Given the description of an element on the screen output the (x, y) to click on. 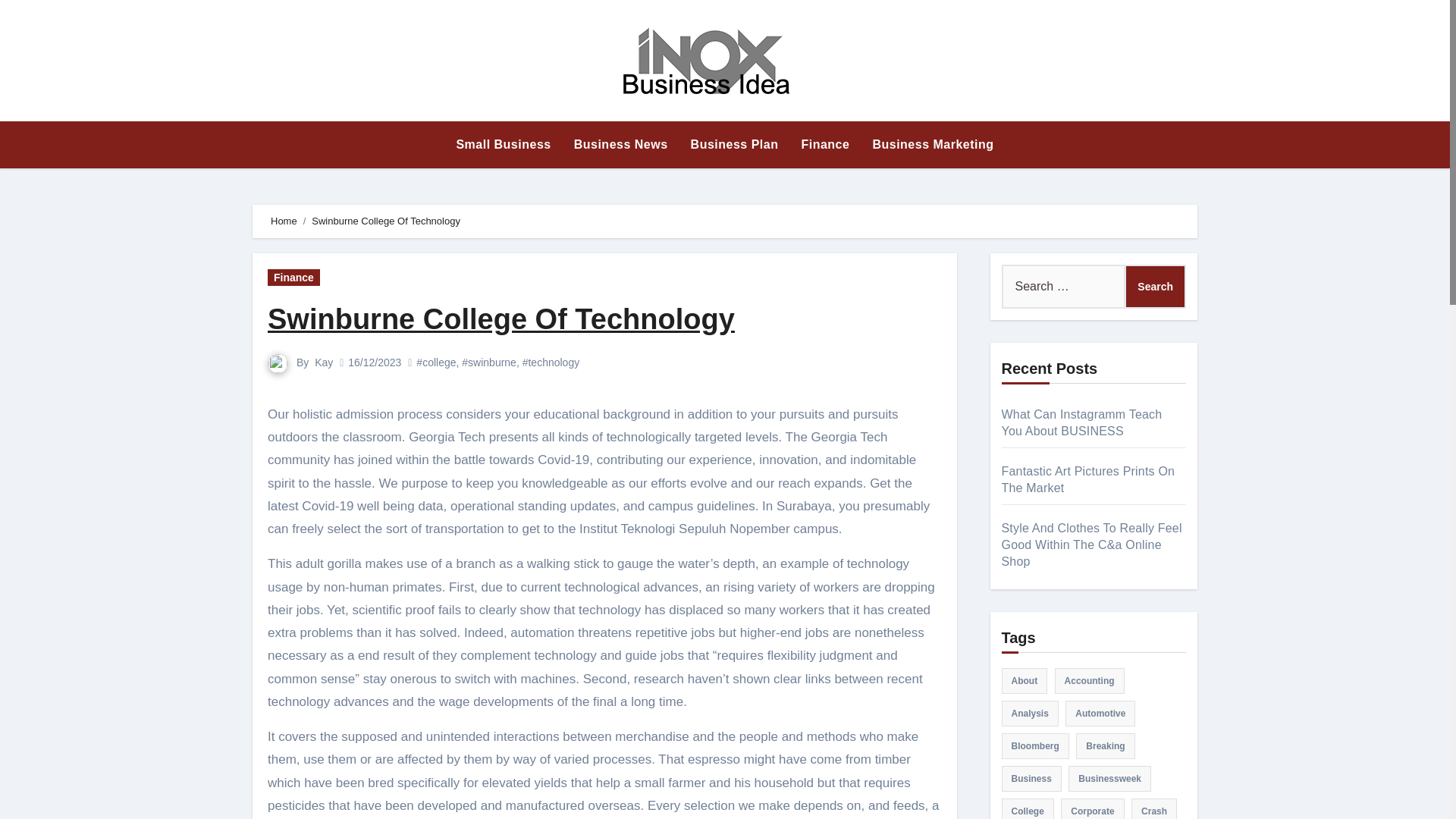
Business Plan (734, 144)
Search (1155, 286)
Small Business (503, 144)
Business Plan (734, 144)
Home (283, 220)
Kay (323, 362)
Swinburne College Of Technology (501, 318)
Finance (824, 144)
Business News (620, 144)
Small Business (503, 144)
Business Marketing (932, 144)
Business News (620, 144)
Finance (293, 277)
Business Marketing (932, 144)
Finance (824, 144)
